Given the description of an element on the screen output the (x, y) to click on. 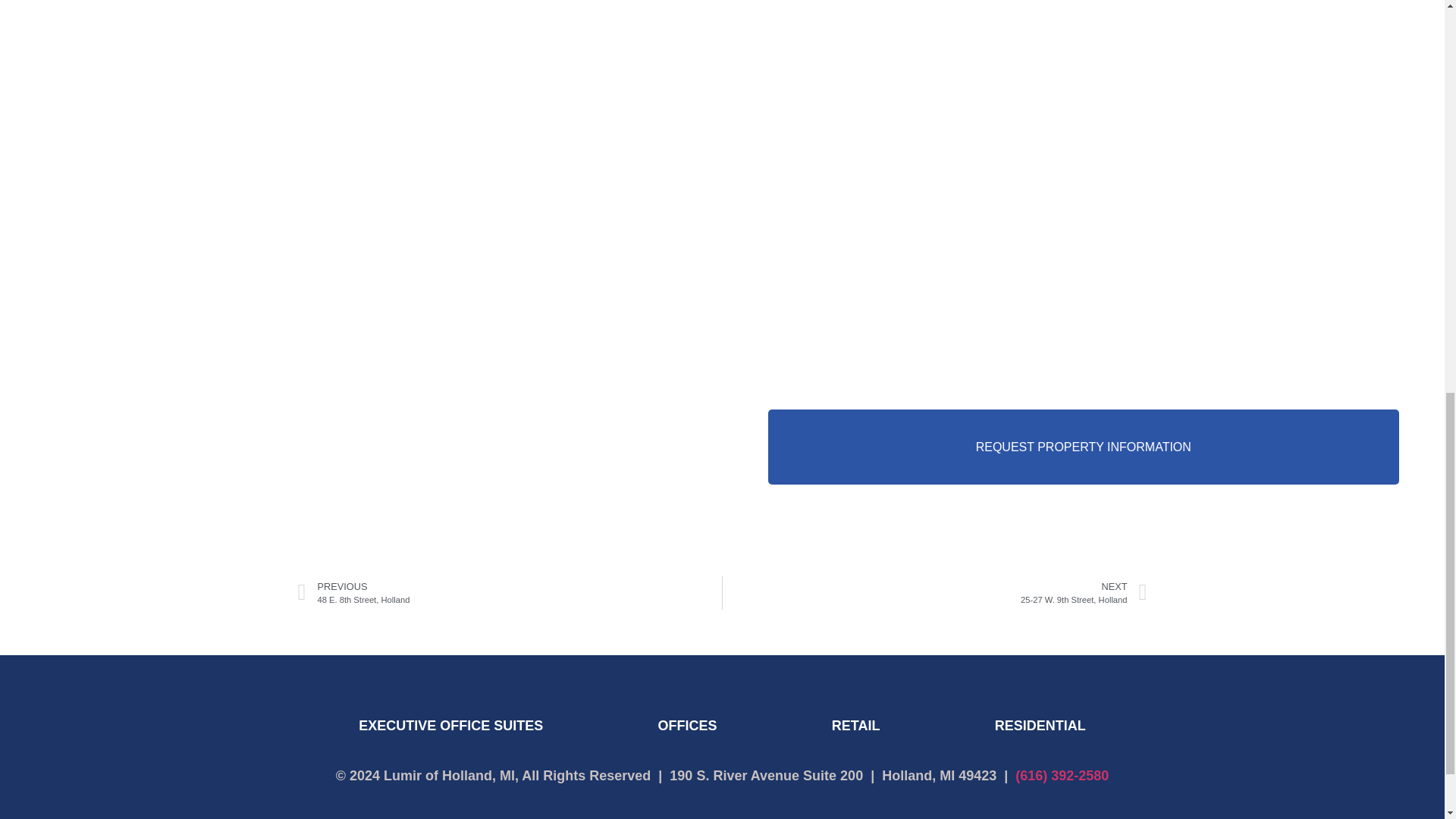
RETAIL (855, 725)
REQUEST PROPERTY INFORMATION (1083, 446)
EXECUTIVE OFFICE SUITES (934, 592)
37 E. 8th Street, Holland, MI (449, 725)
OFFICES (1039, 725)
